Given the description of an element on the screen output the (x, y) to click on. 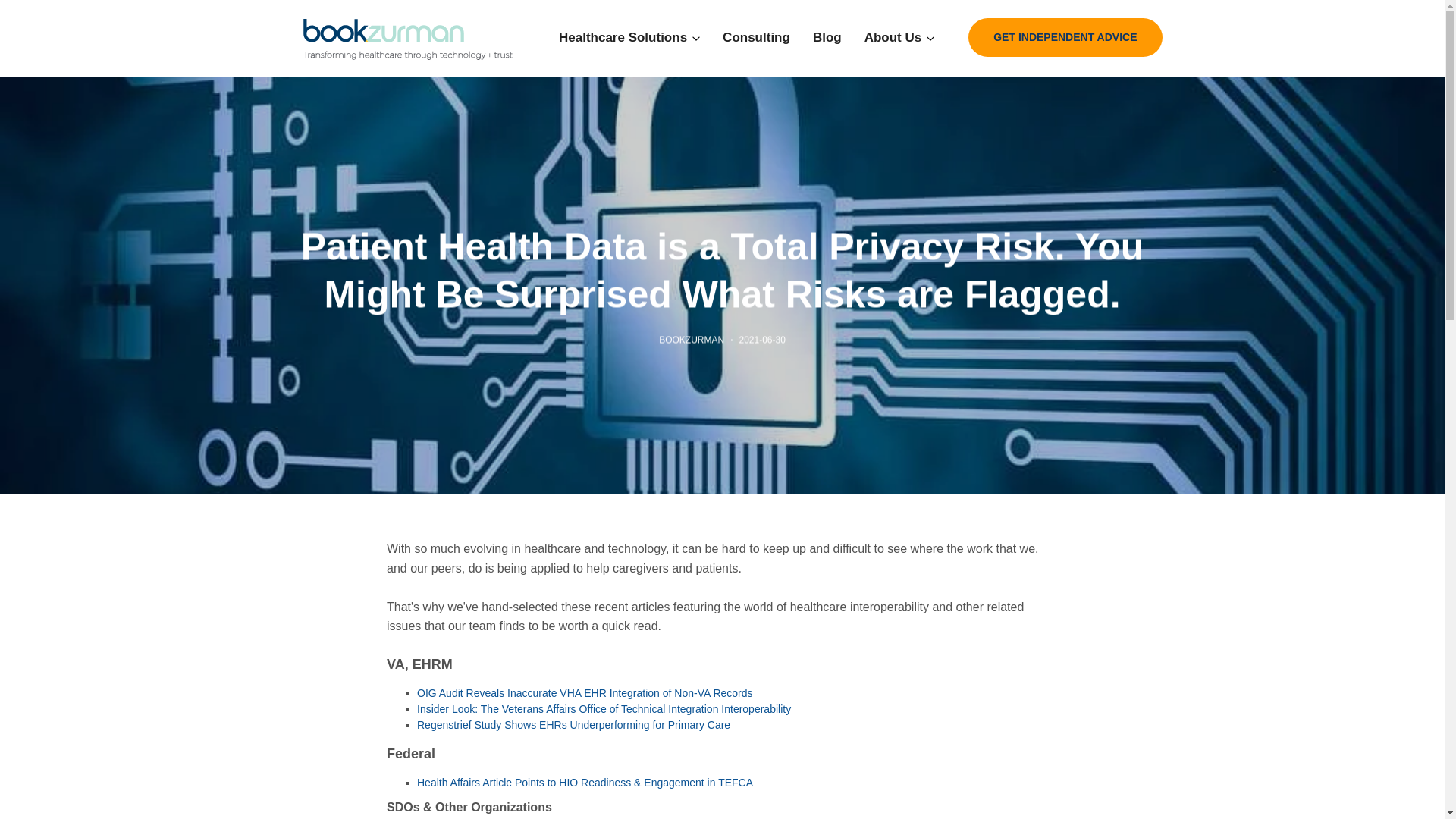
GET INDEPENDENT ADVICE (1064, 37)
Consulting (756, 37)
Healthcare Solutions (623, 37)
About Us (892, 37)
BOOKZURMAN (691, 339)
